Given the description of an element on the screen output the (x, y) to click on. 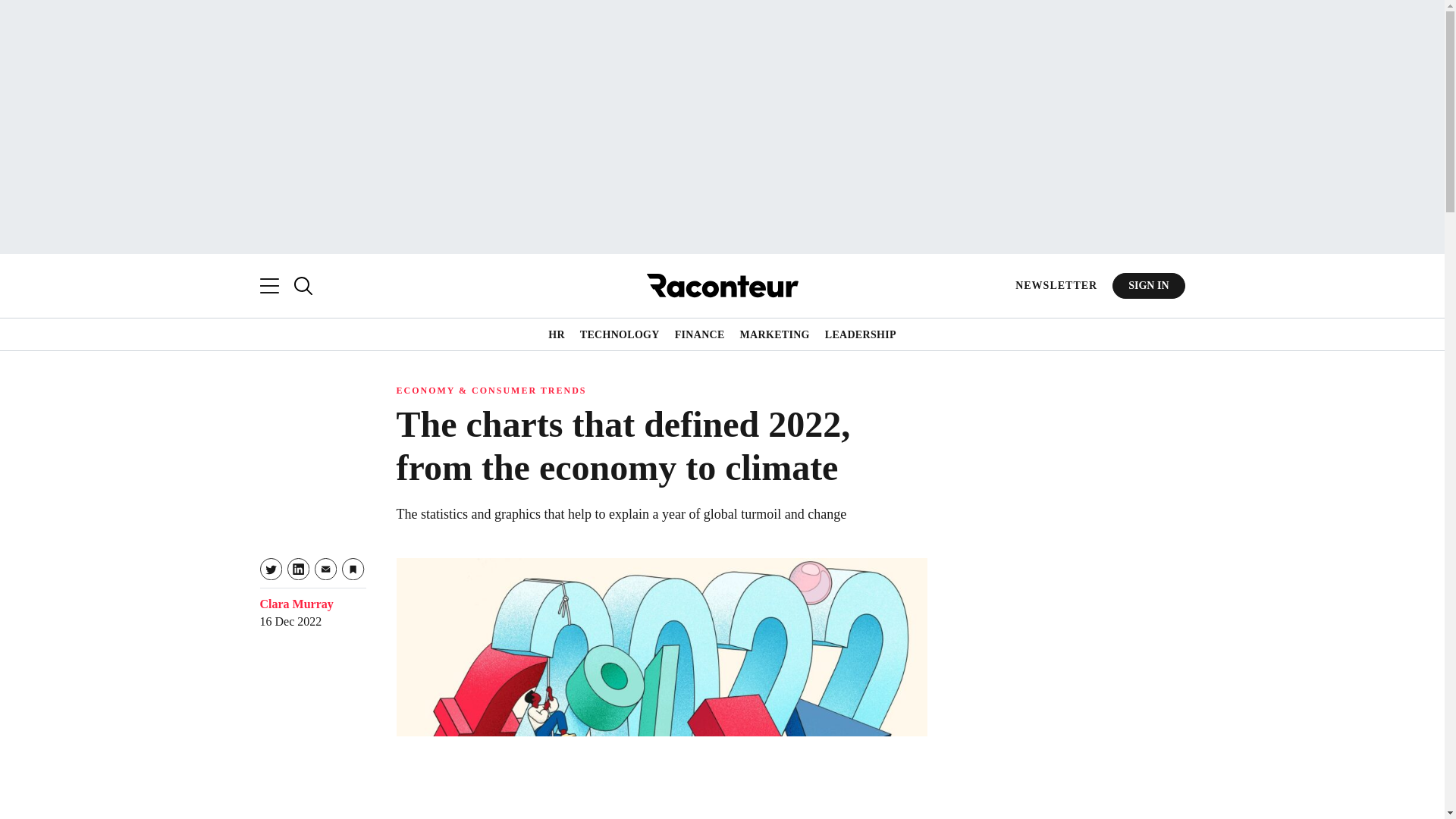
TECHNOLOGY (619, 334)
Raconteur (721, 285)
Clara Murray (296, 603)
MARKETING (774, 334)
SIGN IN (1148, 285)
NEWSLETTER (1055, 285)
HR (556, 334)
LEADERSHIP (860, 334)
FINANCE (700, 334)
